Given the description of an element on the screen output the (x, y) to click on. 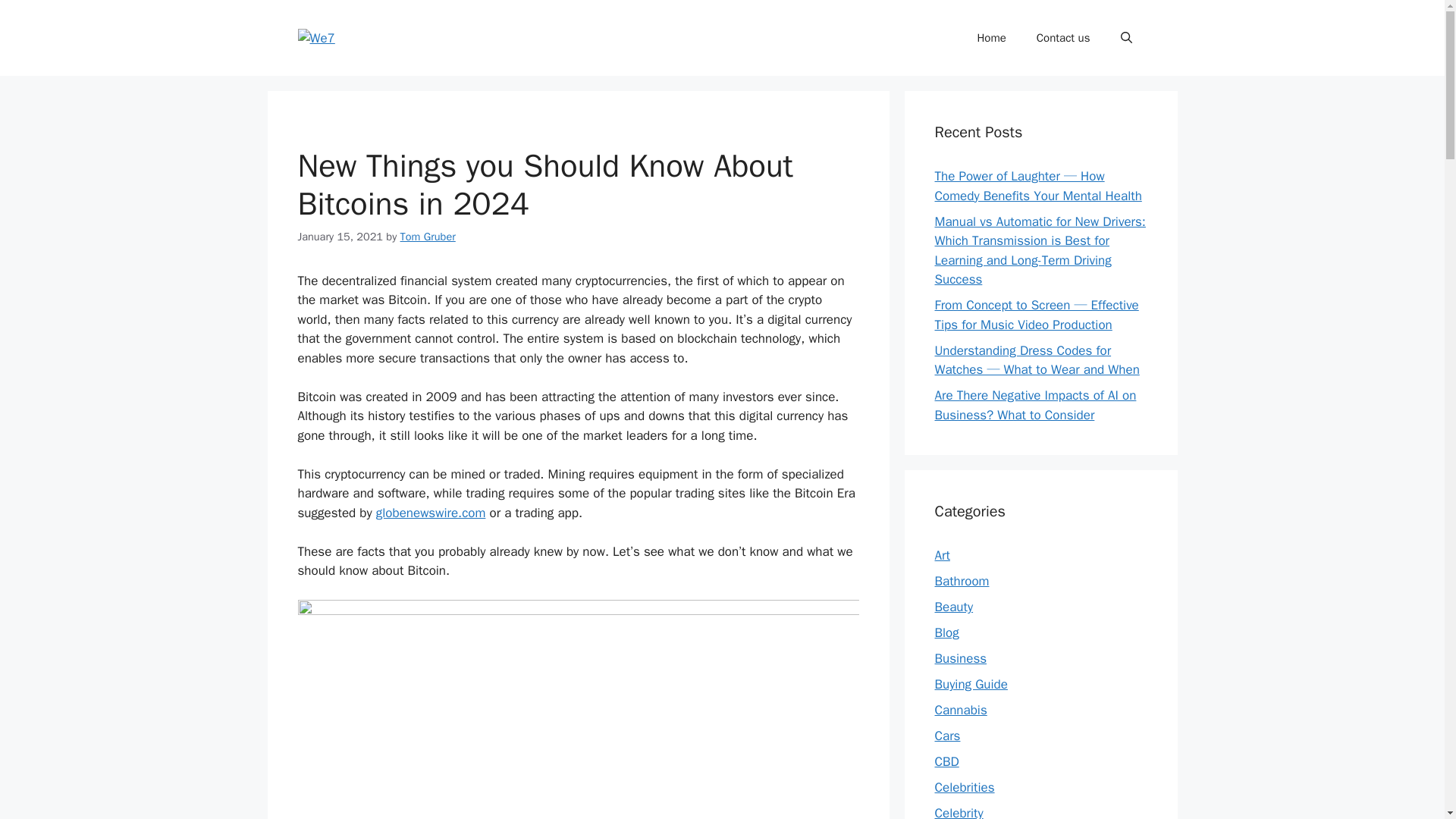
View all posts by Tom Gruber (427, 236)
Blog (946, 632)
Art (941, 555)
Home (990, 37)
Tom Gruber (427, 236)
Bathroom (961, 580)
Beauty (953, 606)
Buying Guide (970, 684)
